Given the description of an element on the screen output the (x, y) to click on. 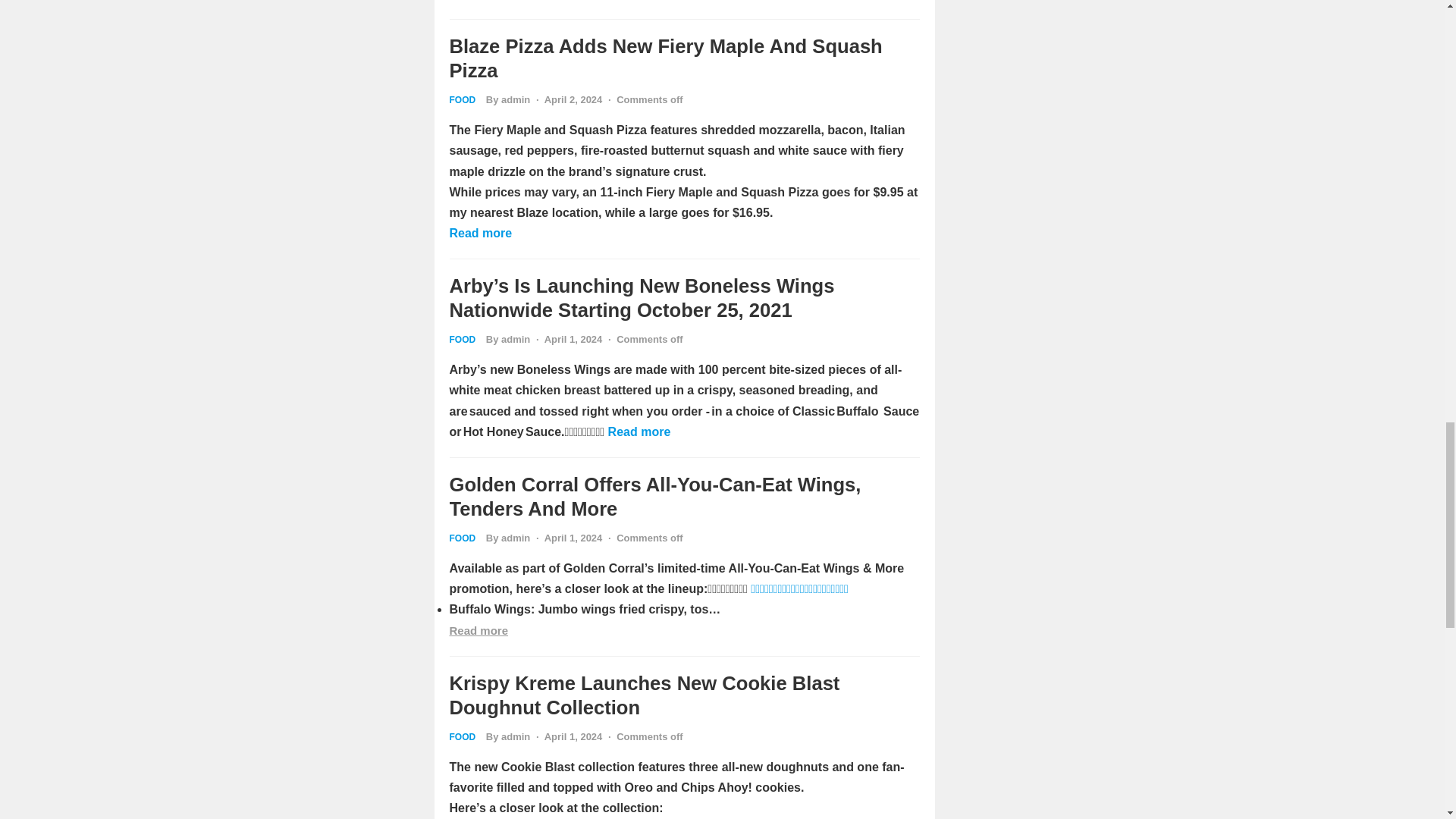
Posts by admin (514, 537)
Posts by admin (514, 338)
Posts by admin (514, 736)
Posts by admin (514, 99)
